Given the description of an element on the screen output the (x, y) to click on. 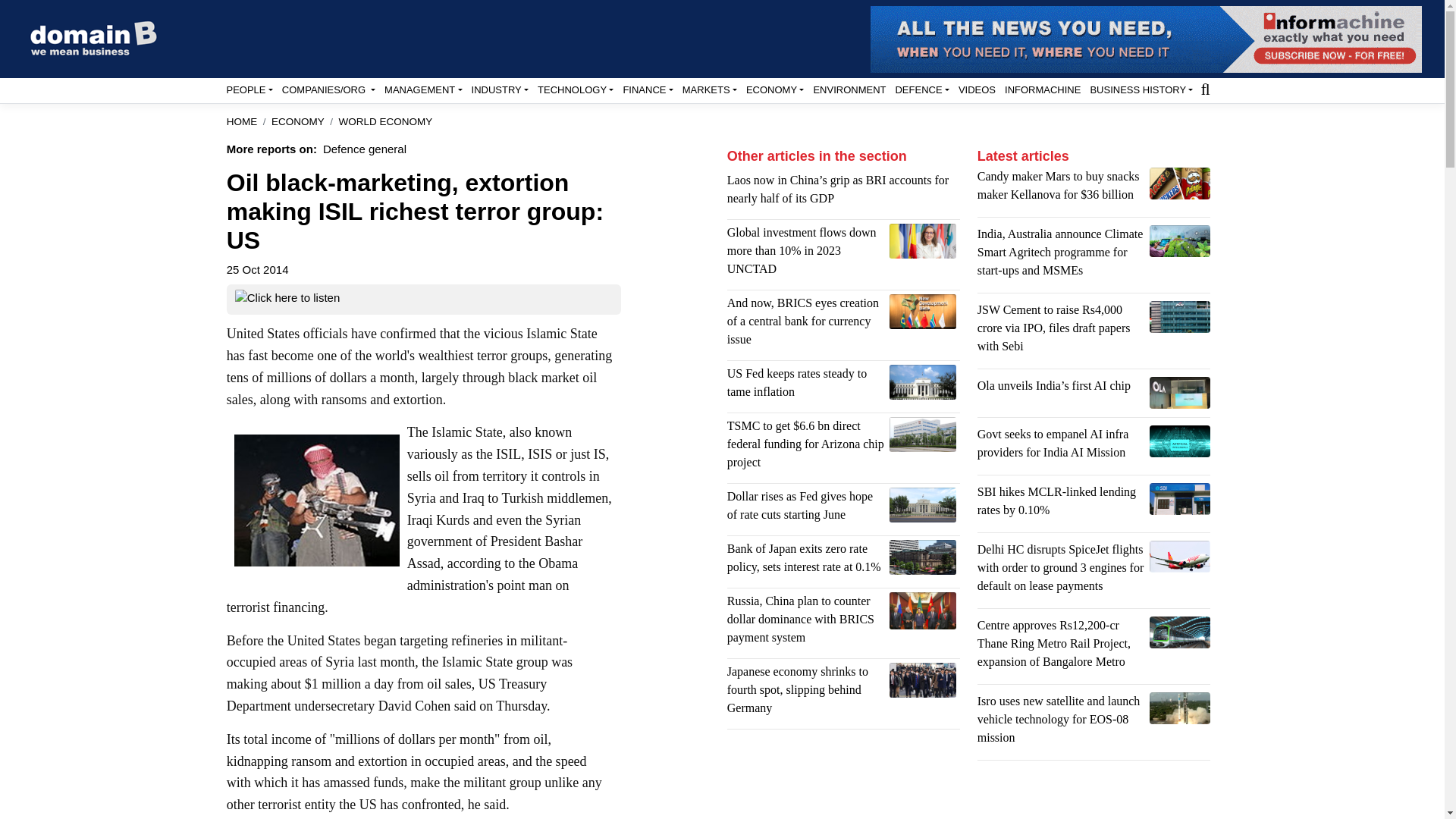
Click here to listen (287, 299)
PEOPLE (248, 89)
US Fed keeps rates steady to tame inflation (922, 381)
Dollar rises as Fed gives hope of rate cuts starting June (922, 504)
